Given the description of an element on the screen output the (x, y) to click on. 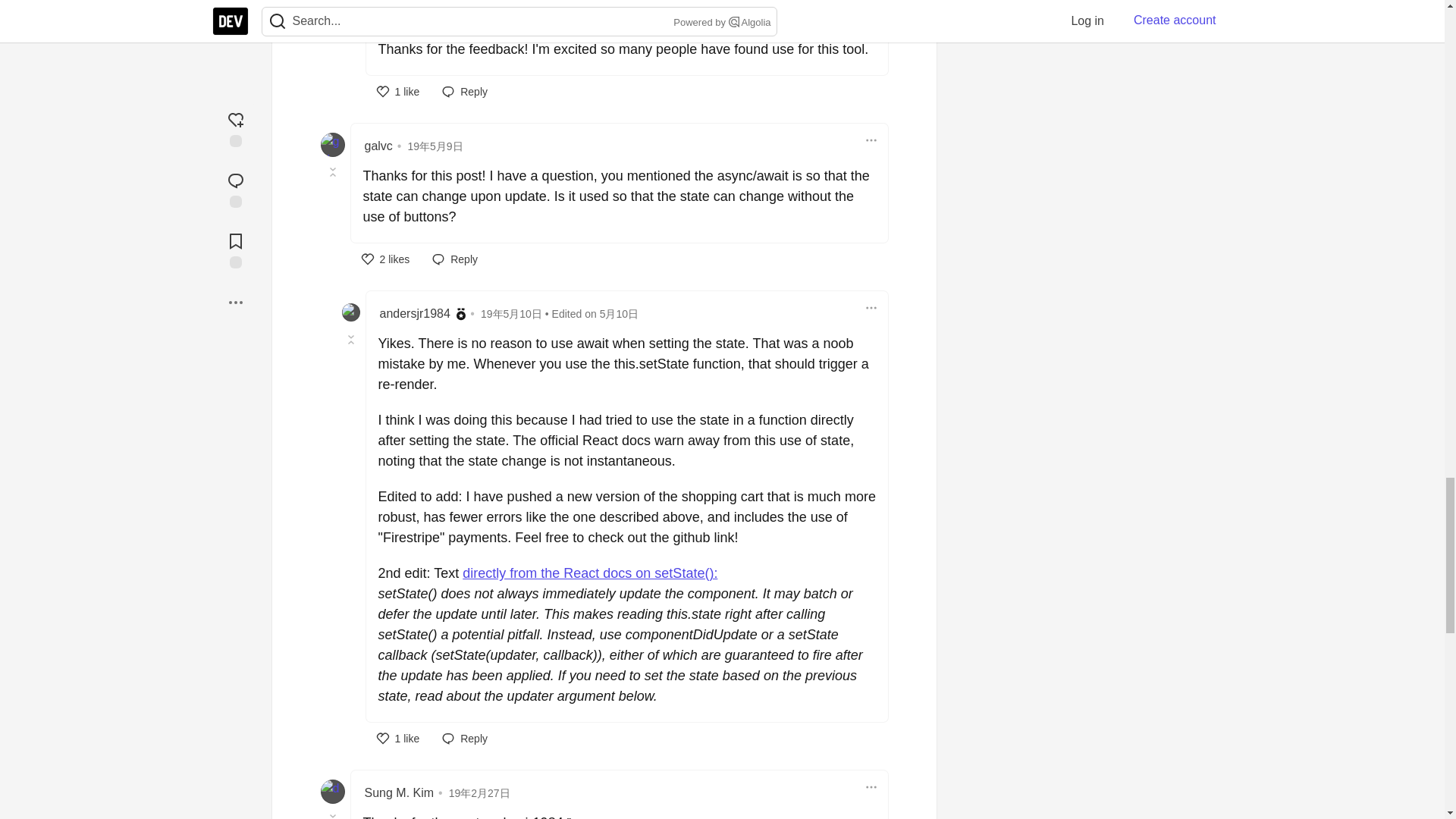
Dropdown menu (870, 140)
